Given the description of an element on the screen output the (x, y) to click on. 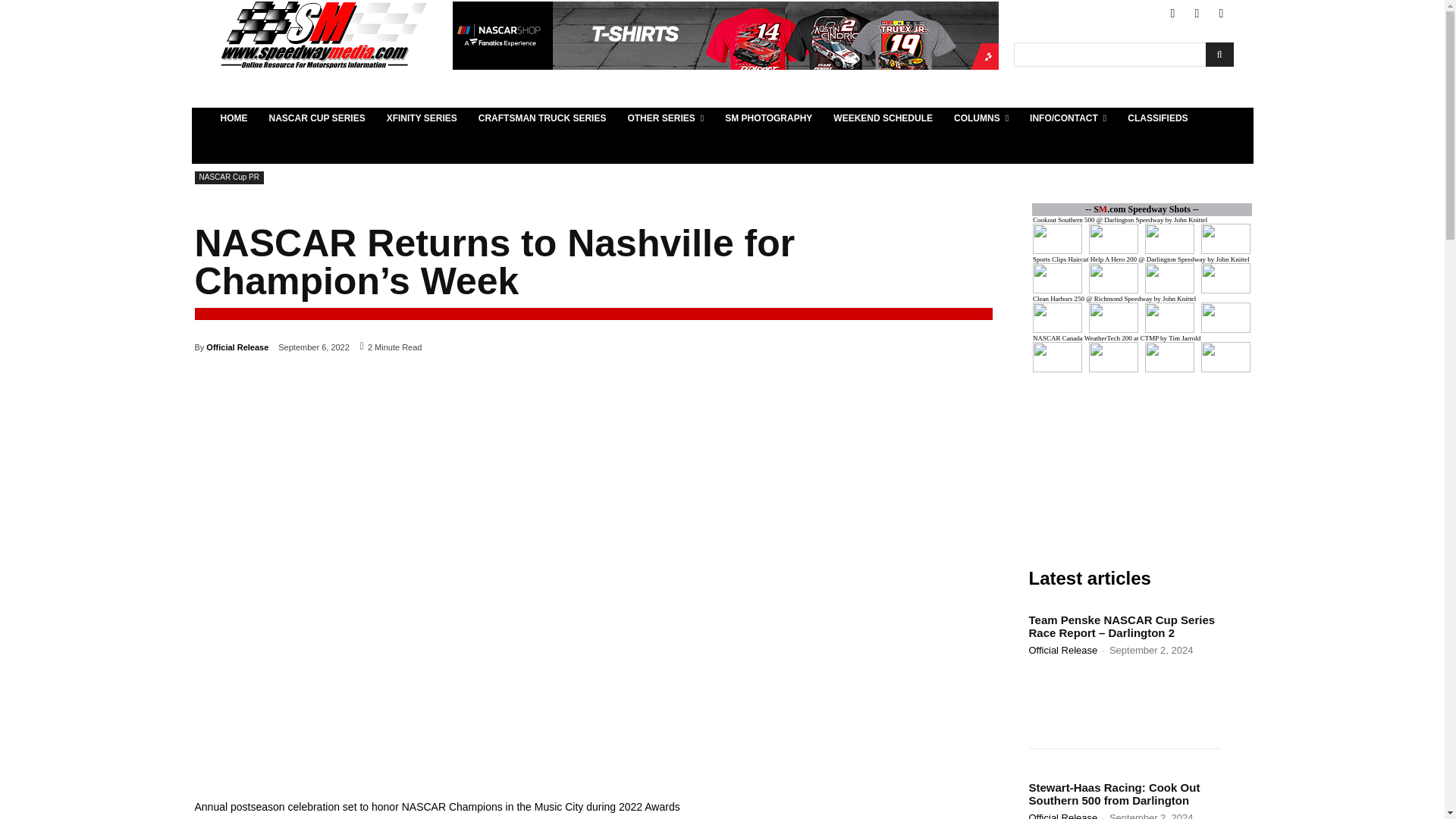
HOME (233, 117)
NASCAR CUP SERIES (316, 117)
Facebook (1172, 13)
Instagram (1220, 13)
Twitter (1196, 13)
